Given the description of an element on the screen output the (x, y) to click on. 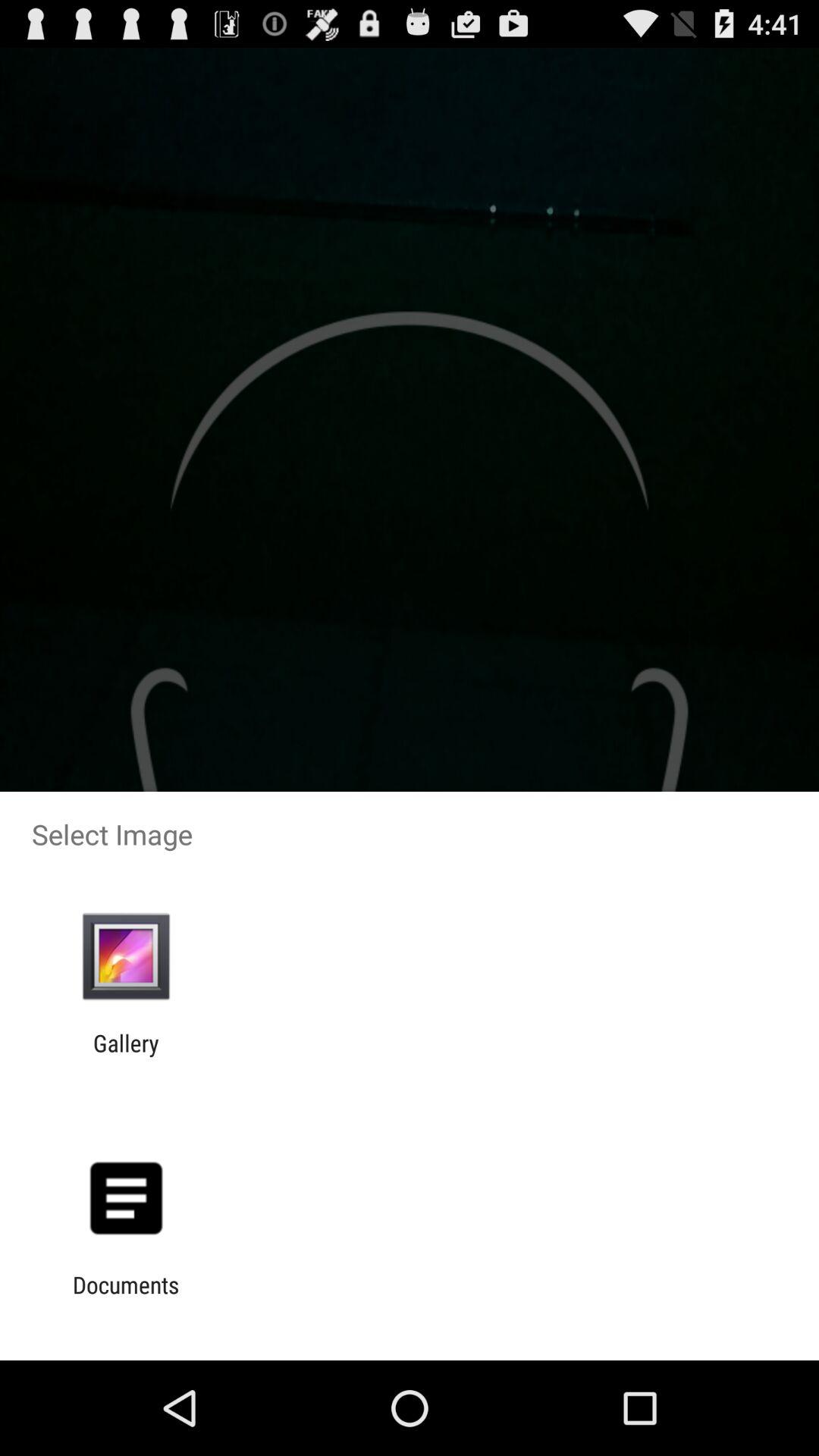
flip to the documents item (125, 1298)
